Given the description of an element on the screen output the (x, y) to click on. 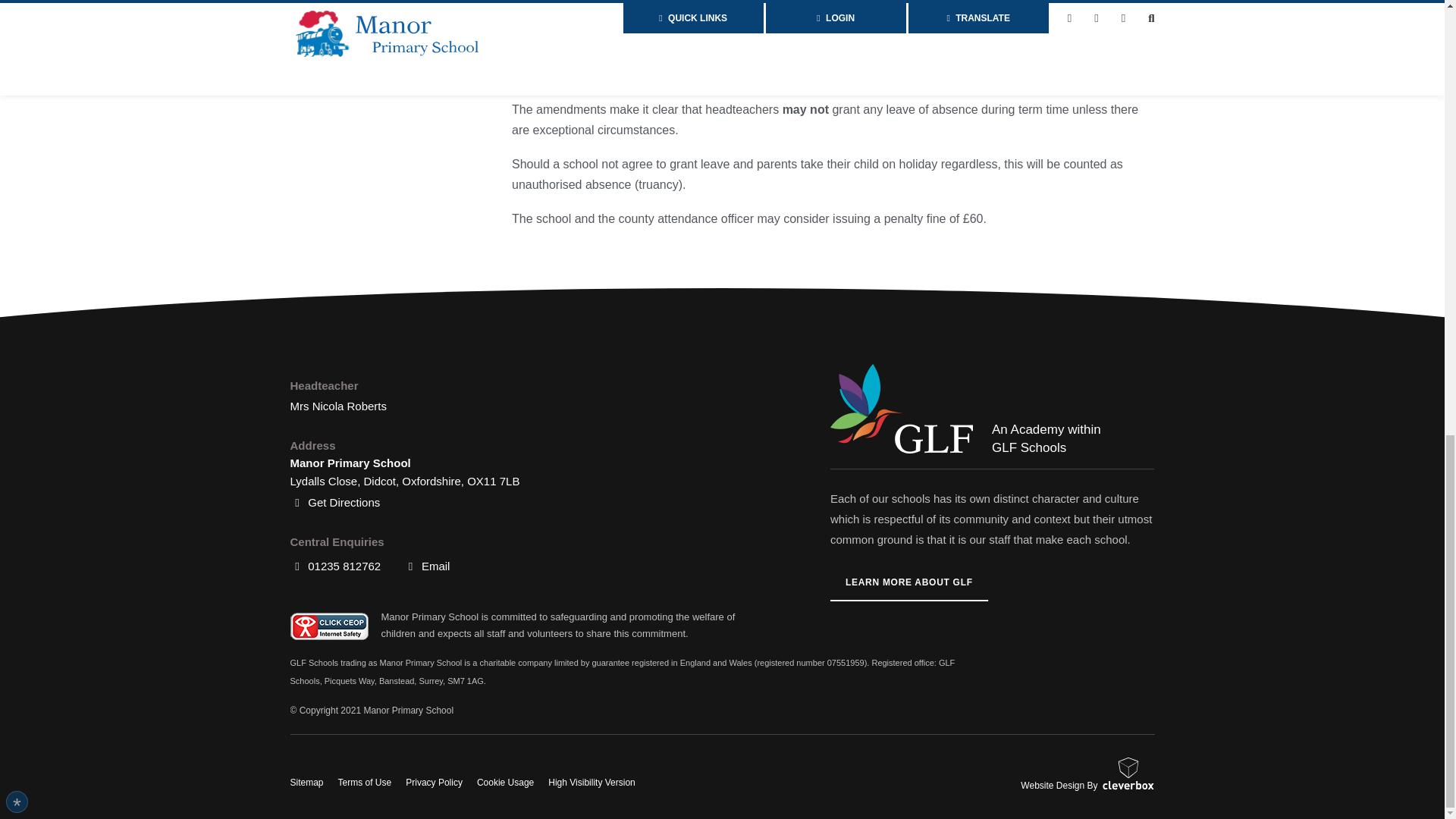
Call us on 01235 812762 (334, 566)
Read more about our cookie policy (162, 477)
